Given the description of an element on the screen output the (x, y) to click on. 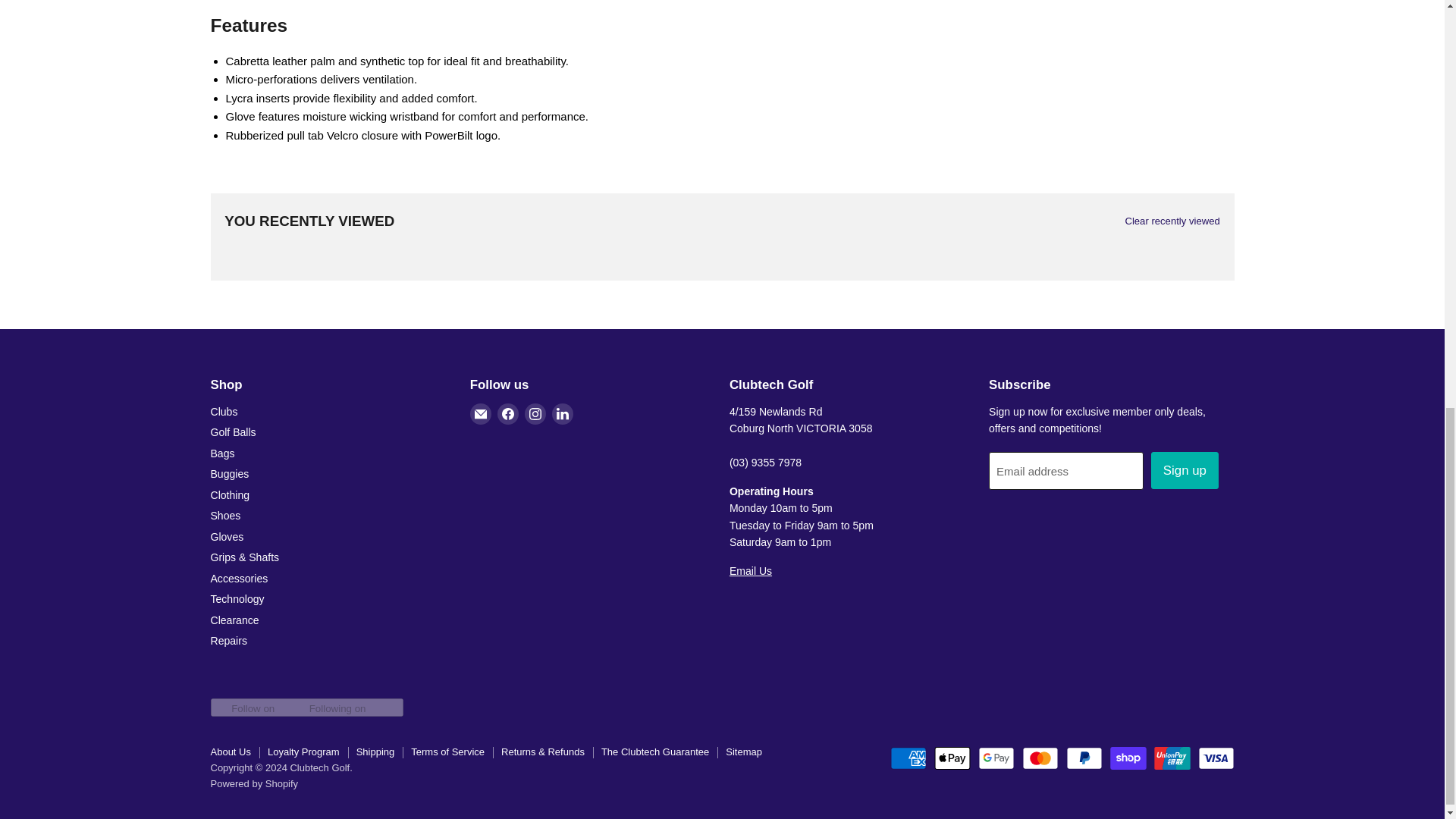
LinkedIn (562, 414)
Instagram (535, 414)
Facebook (507, 414)
Email (481, 414)
